Given the description of an element on the screen output the (x, y) to click on. 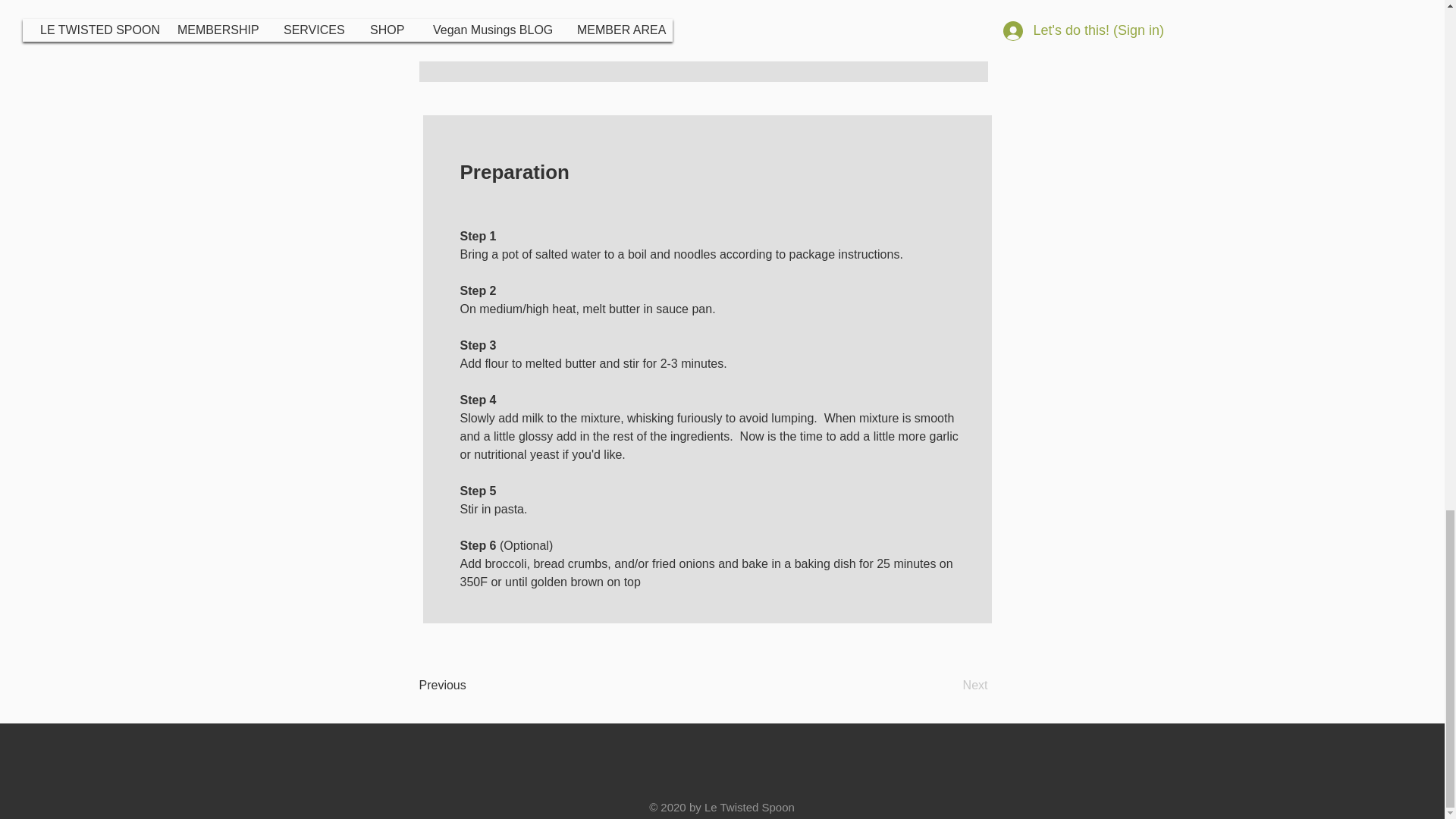
Previous (467, 685)
Next (949, 685)
